Given the description of an element on the screen output the (x, y) to click on. 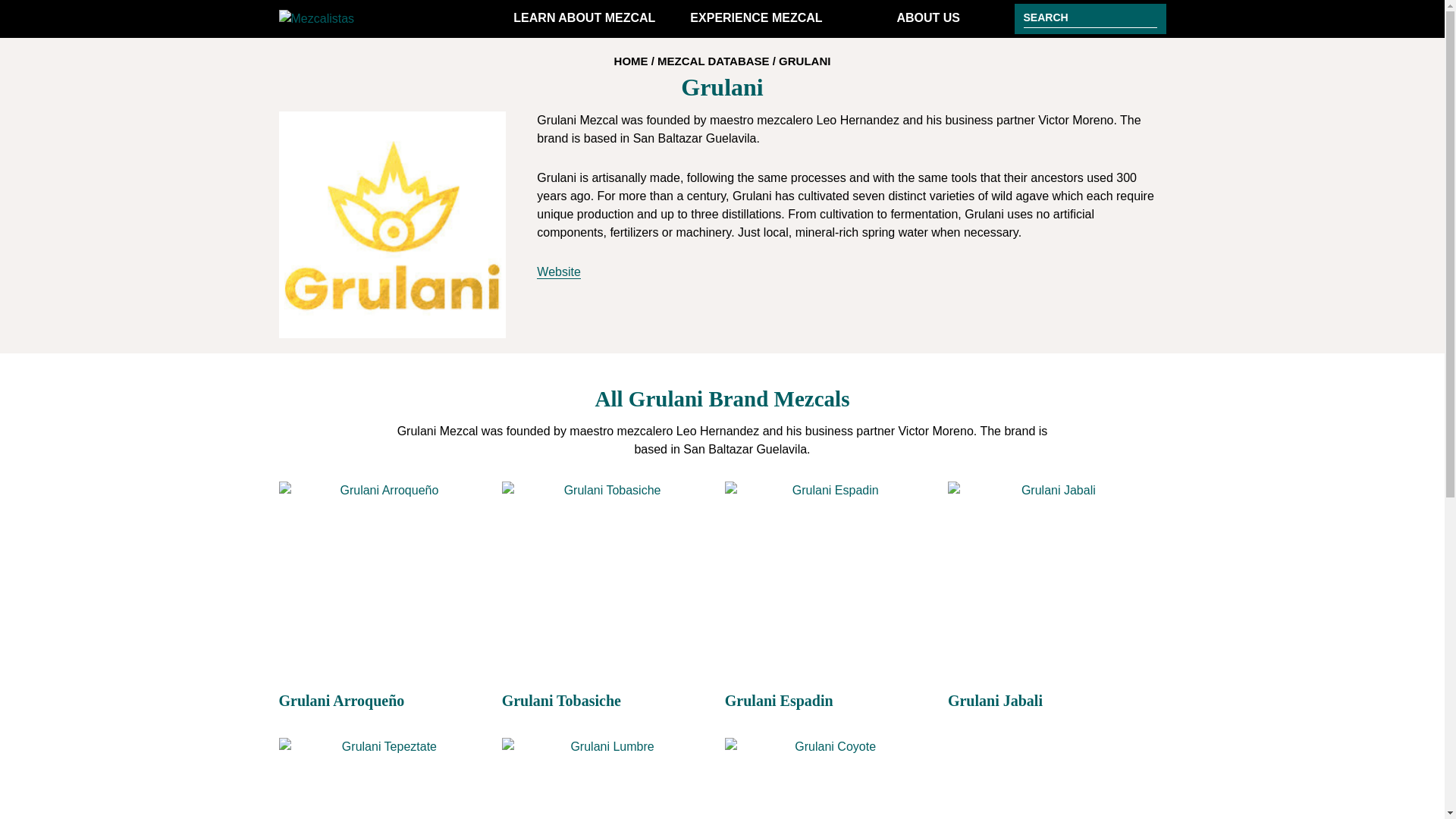
LEARN ABOUT MEZCAL (583, 18)
EXPERIENCE MEZCAL (756, 18)
ABOUT US (928, 18)
